Given the description of an element on the screen output the (x, y) to click on. 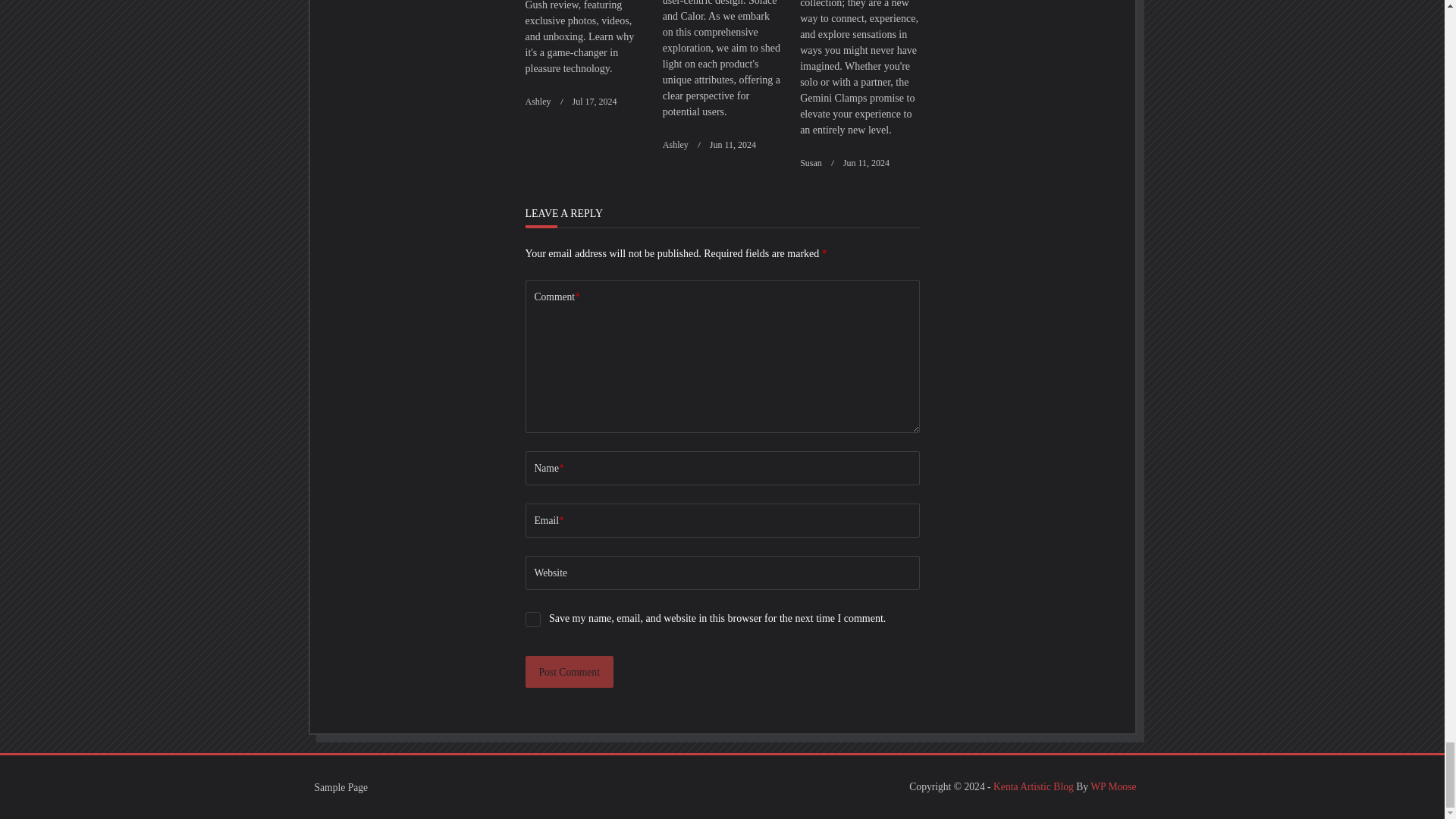
Ashley (537, 101)
yes (532, 619)
Post Comment (568, 671)
Jul 17, 2024 (593, 101)
